Given the description of an element on the screen output the (x, y) to click on. 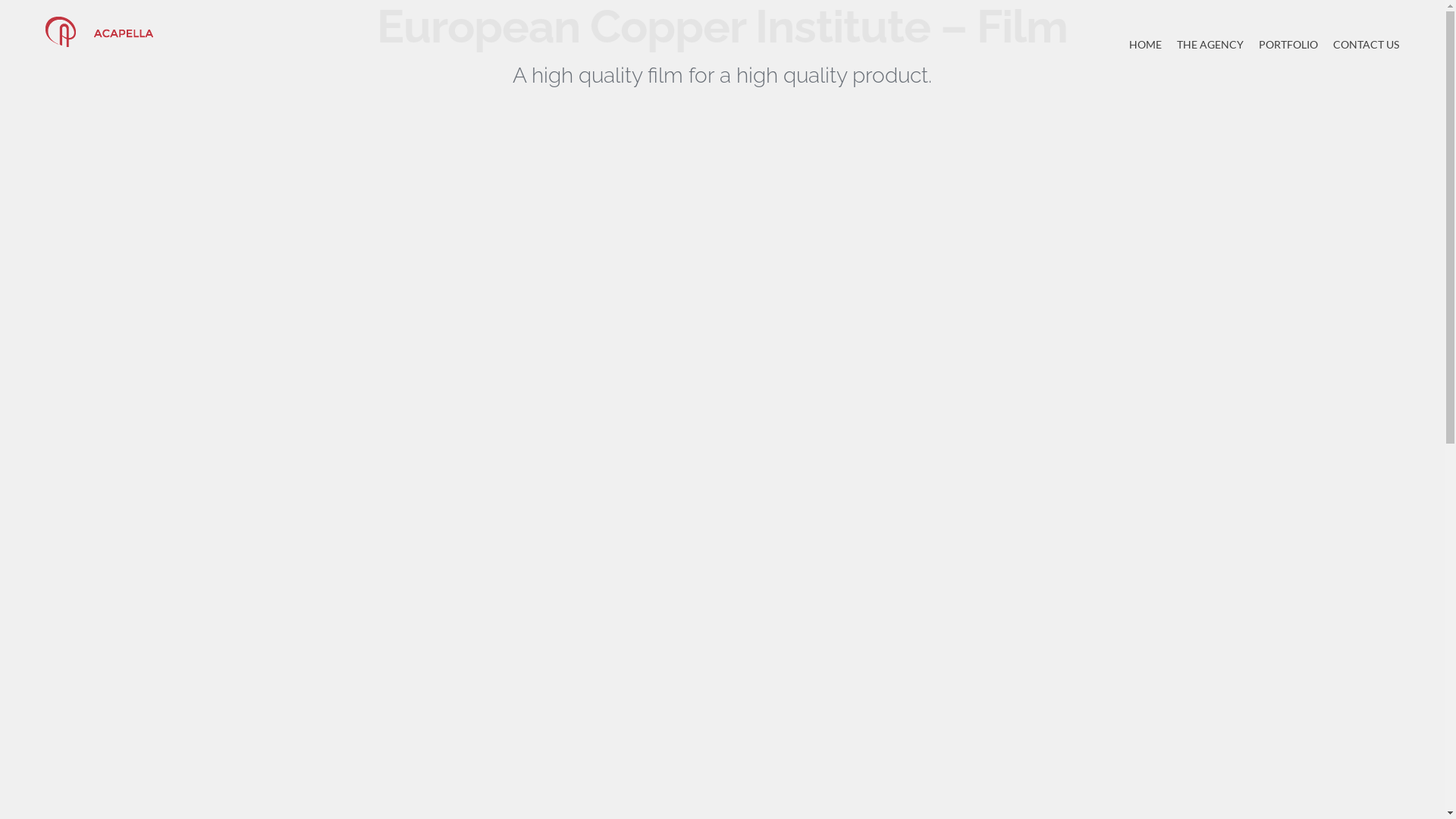
PORTFOLIO Element type: text (1287, 43)
CONTACT US Element type: text (1366, 43)
THE AGENCY Element type: text (1209, 43)
HOME Element type: text (1145, 43)
